Given the description of an element on the screen output the (x, y) to click on. 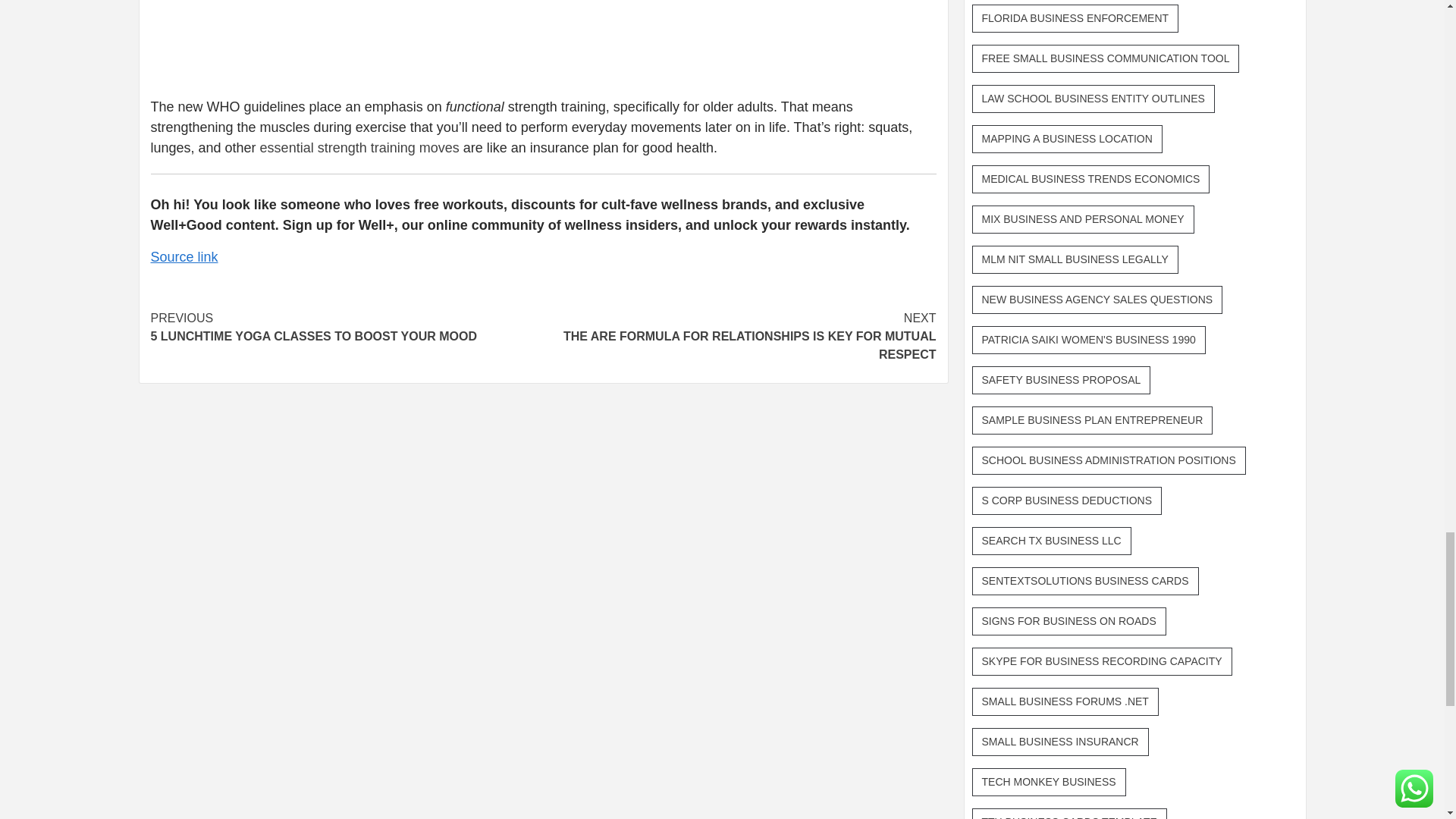
A 5-minute full-body strength workout from Charlee Atkins (391, 39)
essential strength training moves (358, 147)
Source link (182, 256)
